Given the description of an element on the screen output the (x, y) to click on. 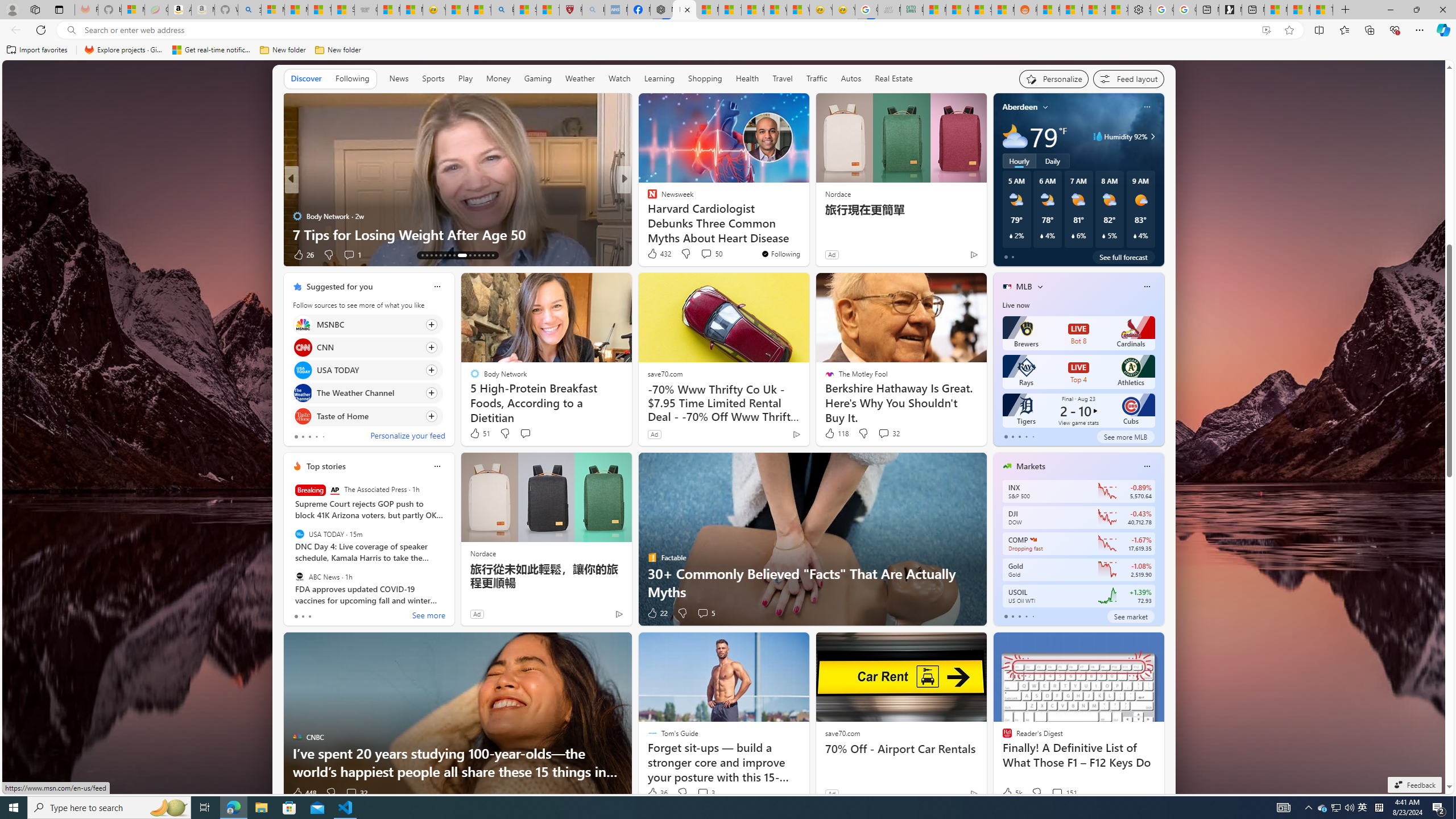
You're following Newsweek (780, 253)
Million Dollar Sense (647, 215)
AutomationID: tab-77 (478, 255)
AutomationID: tab-76 (474, 255)
NASDAQ (1032, 539)
View comments 50 Comment (710, 253)
Start the conversation (525, 433)
5k Like (1010, 792)
Combat Siege (365, 9)
Aberdeen (1019, 106)
Favorites bar (728, 49)
See full forecast (1123, 256)
